Given the description of an element on the screen output the (x, y) to click on. 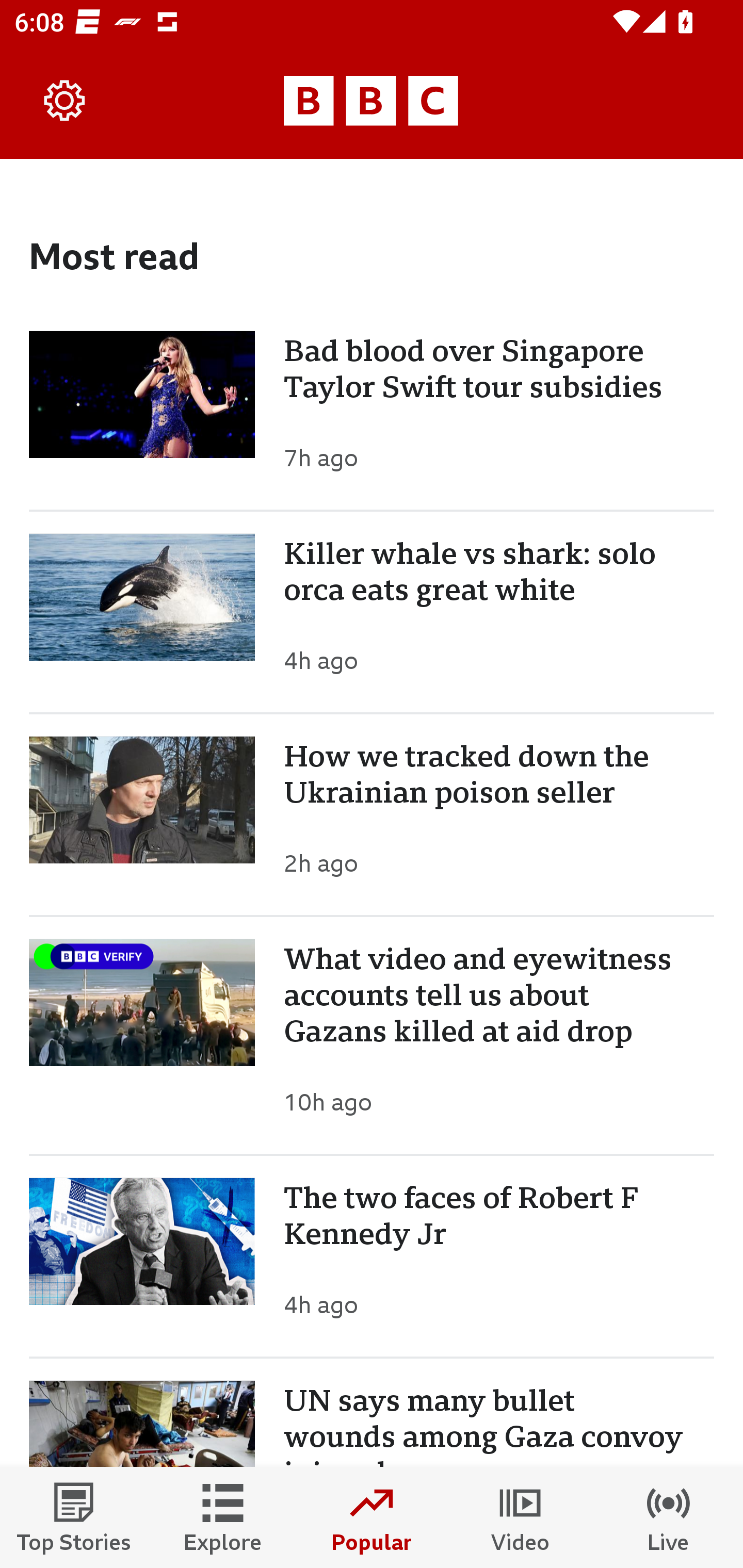
Settings (64, 100)
Top Stories (74, 1517)
Explore (222, 1517)
Video (519, 1517)
Live (668, 1517)
